Given the description of an element on the screen output the (x, y) to click on. 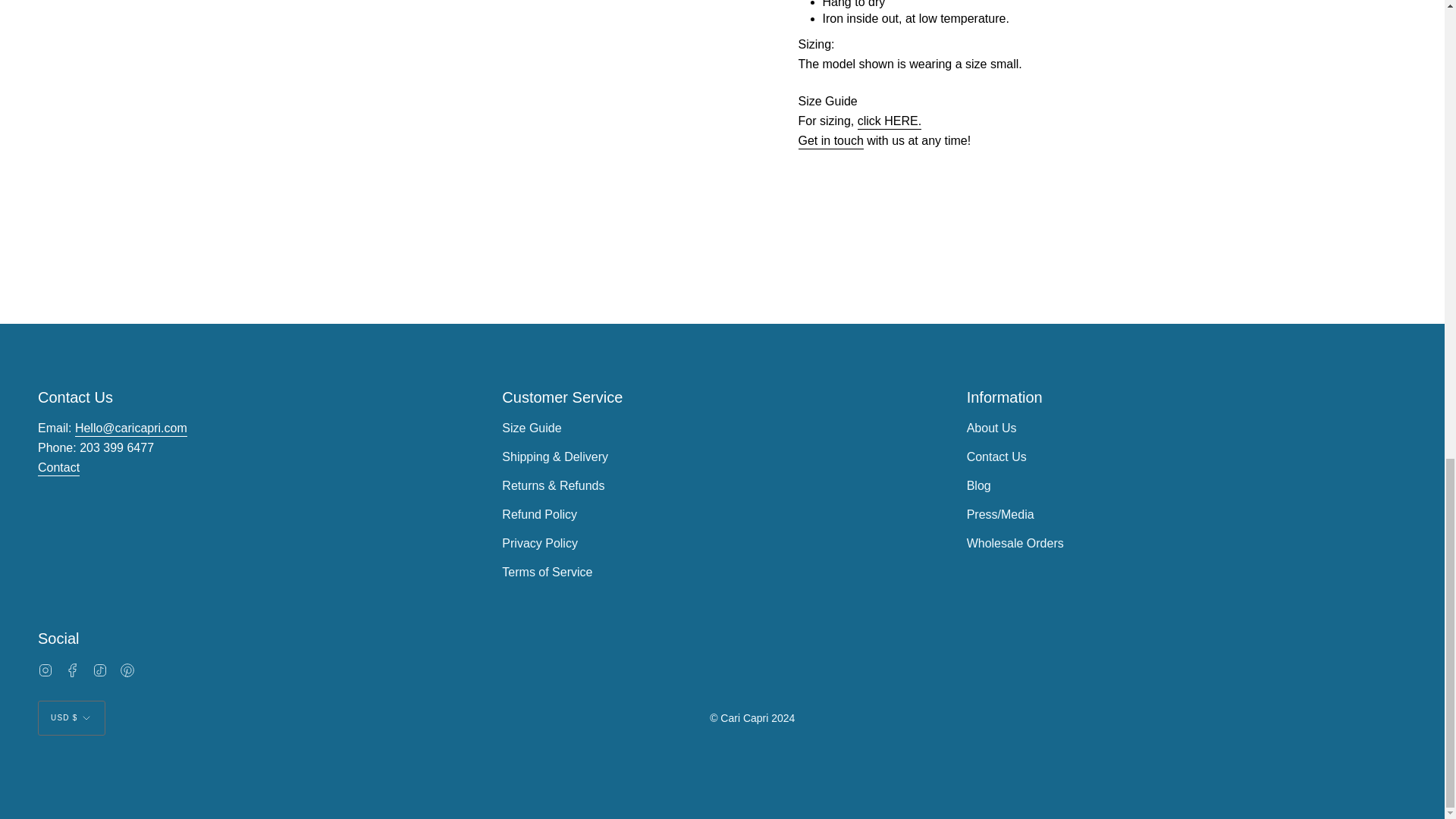
Size Guide (889, 122)
Cari Capri on Instagram (44, 669)
Cari Capri on TikTok (100, 669)
Contact (830, 142)
Cari Capri on Facebook (72, 669)
Contact (58, 469)
